Given the description of an element on the screen output the (x, y) to click on. 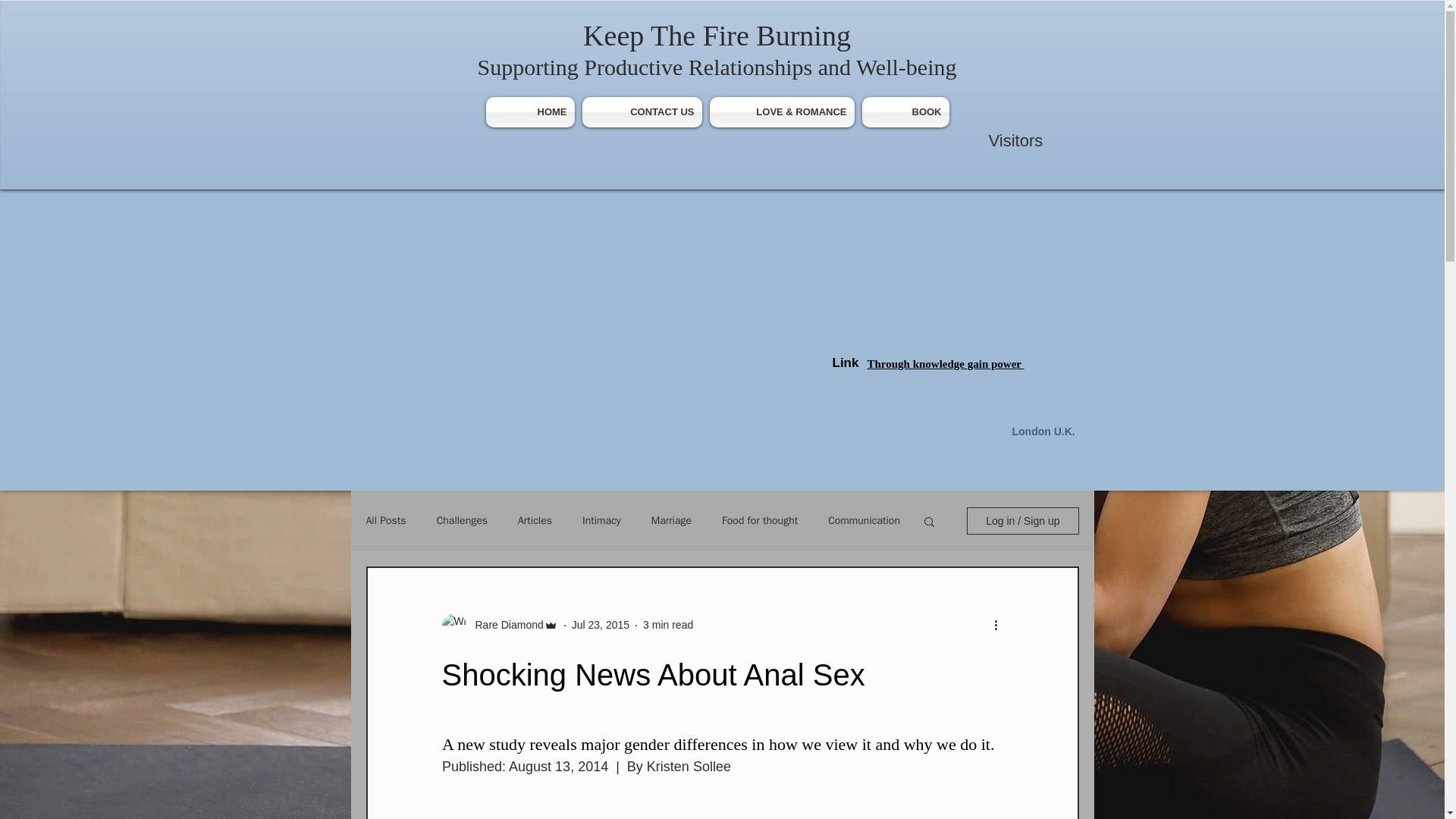
Communication (863, 520)
Challenges (461, 520)
CONTACT US (641, 112)
BOOK (904, 112)
Intimacy (601, 520)
Rare Diamond (499, 625)
All Posts (385, 520)
Through knowledge gain power  (946, 363)
Keep The Fire Burning (716, 35)
Marriage (670, 520)
